Given the description of an element on the screen output the (x, y) to click on. 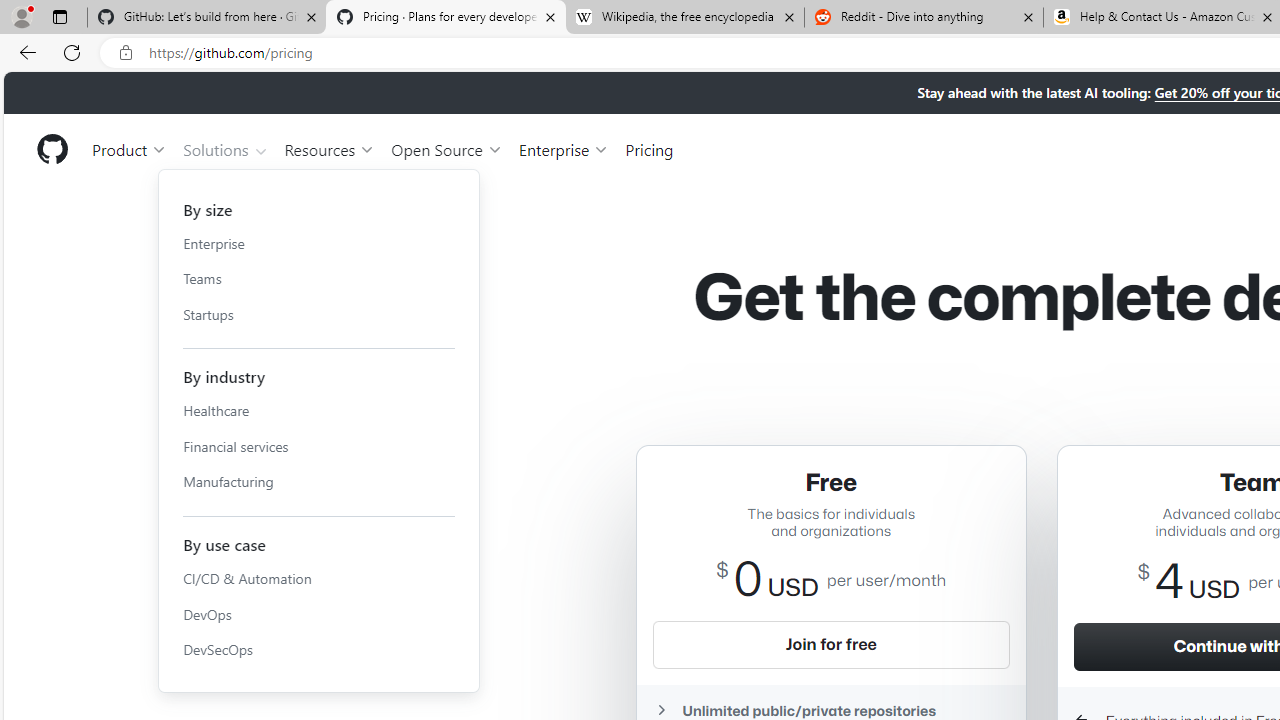
Manufacturing (319, 482)
Product (130, 148)
Solutions (225, 148)
Startups (319, 313)
Startups (319, 313)
Open Source (446, 148)
Open Source (446, 148)
Wikipedia, the free encyclopedia (684, 17)
Enterprise (563, 148)
